Given the description of an element on the screen output the (x, y) to click on. 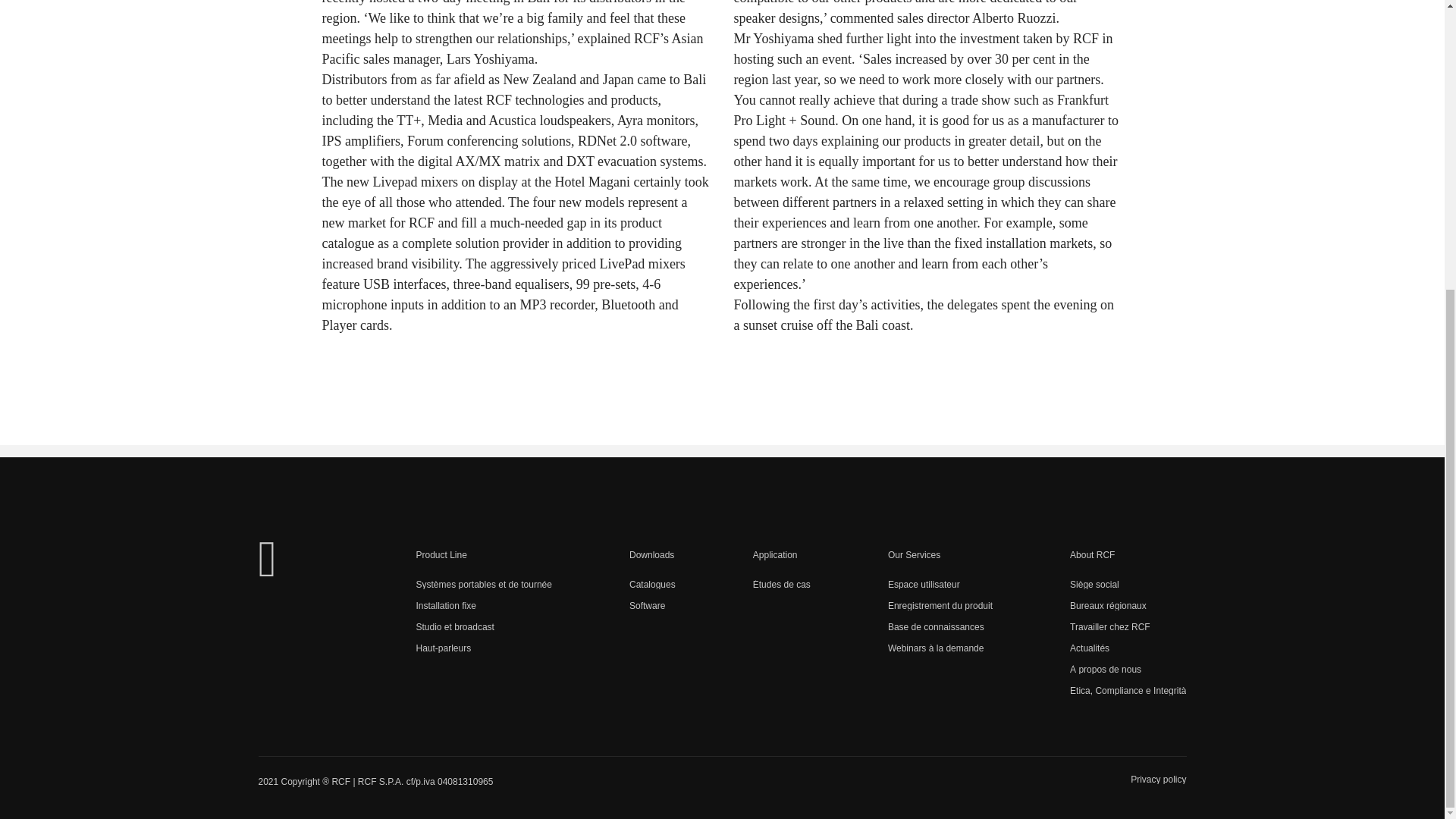
Installation fixe (482, 605)
